Given the description of an element on the screen output the (x, y) to click on. 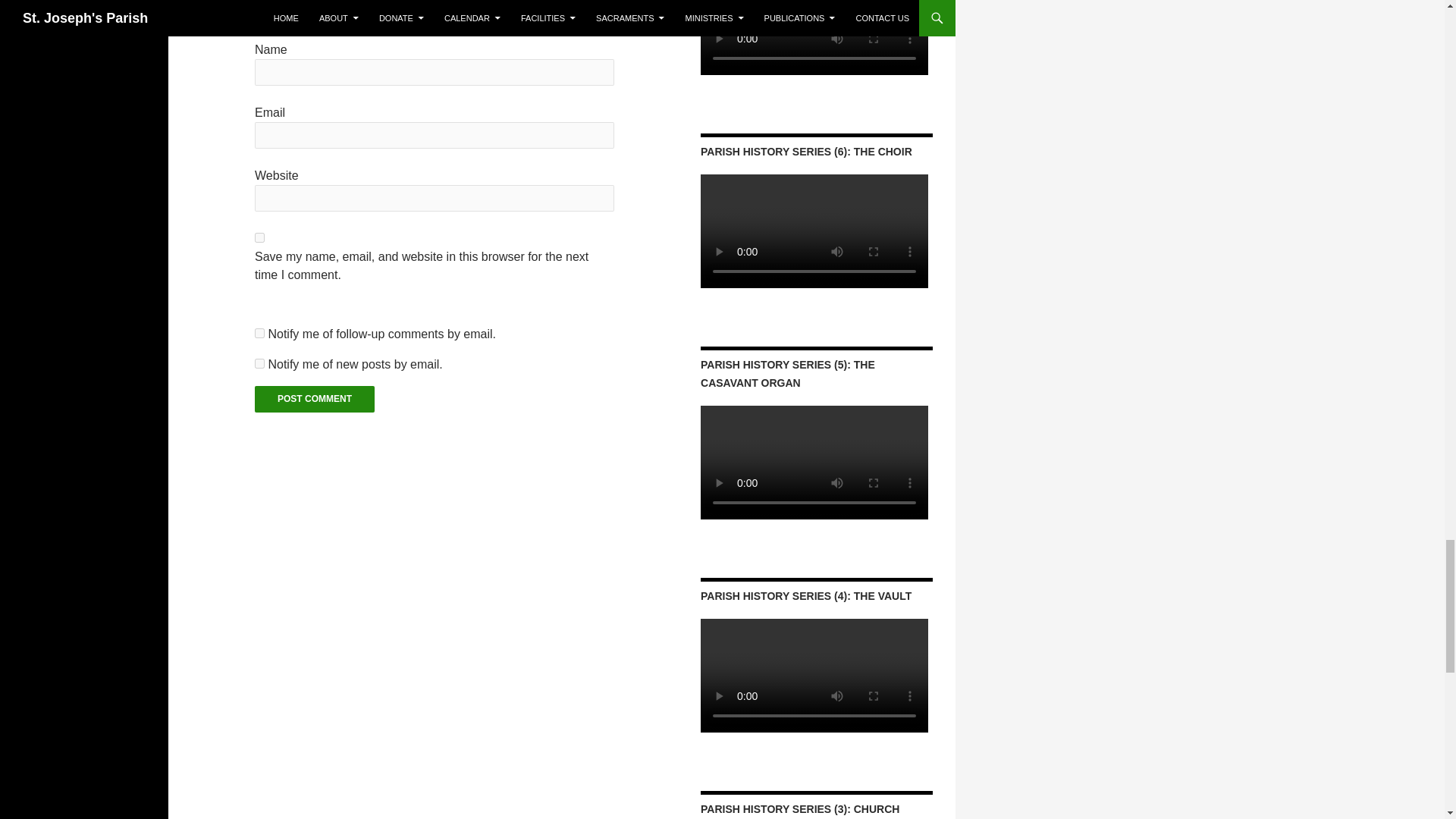
subscribe (259, 333)
yes (259, 237)
subscribe (259, 363)
Post Comment (314, 398)
